Given the description of an element on the screen output the (x, y) to click on. 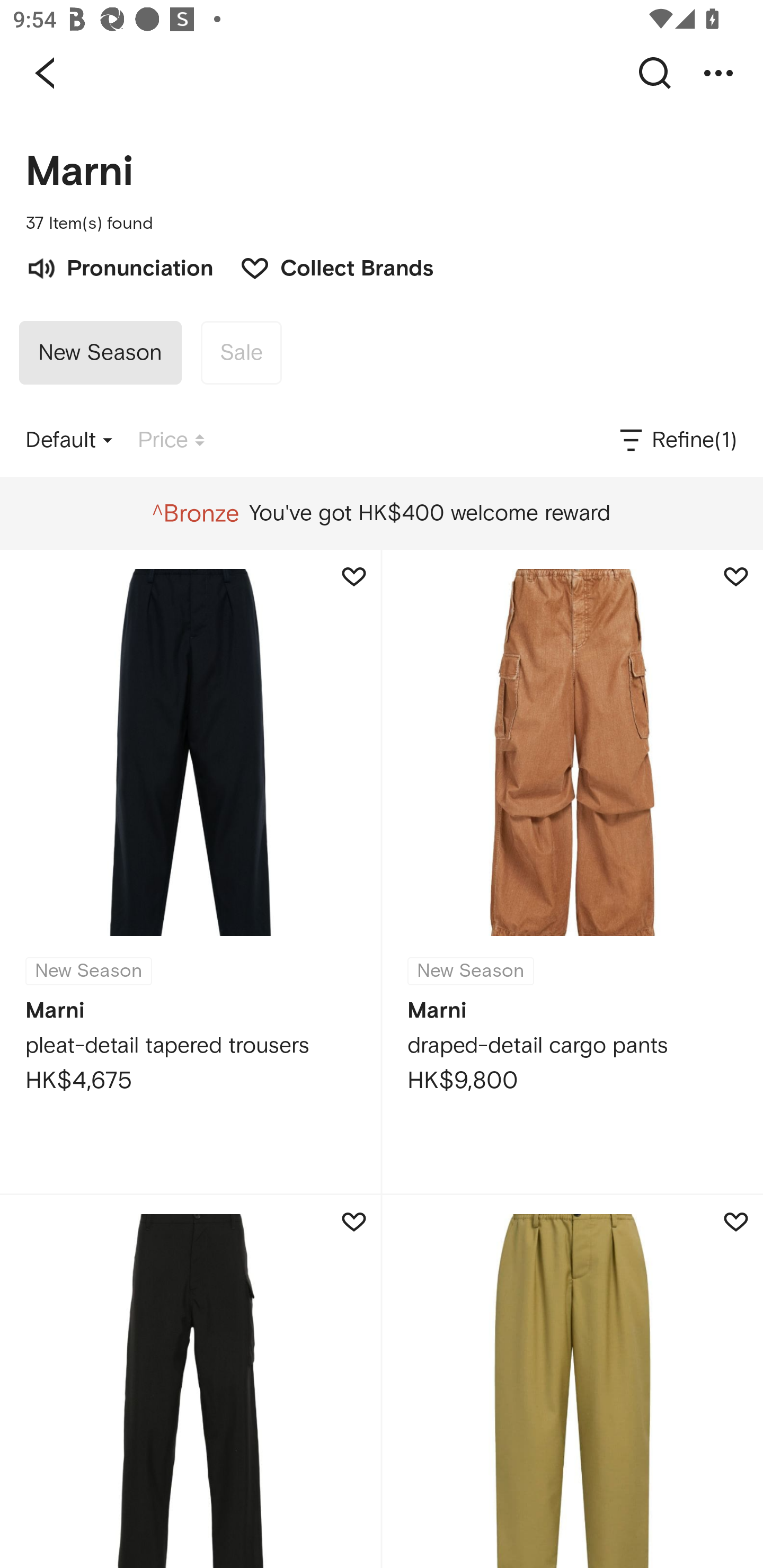
Pronunciation (119, 266)
Collect Brands (327, 266)
New Season (100, 352)
Sale (240, 352)
Default (68, 440)
Price (171, 440)
Refine(1) (677, 440)
You've got HK$400 welcome reward (381, 513)
